Given the description of an element on the screen output the (x, y) to click on. 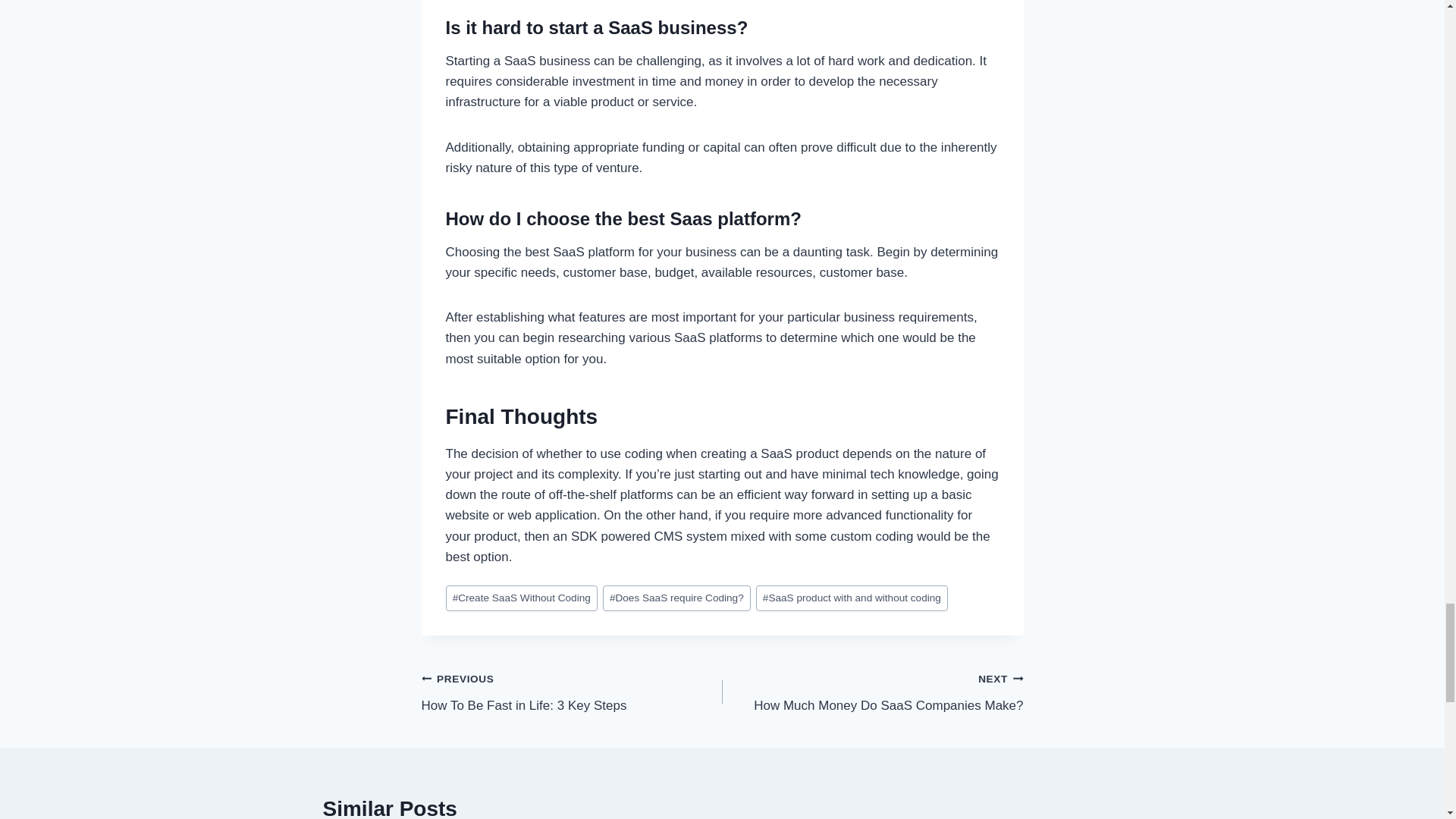
SaaS product with and without coding (572, 691)
Does SaaS require Coding? (851, 598)
Create SaaS Without Coding (676, 598)
